Given the description of an element on the screen output the (x, y) to click on. 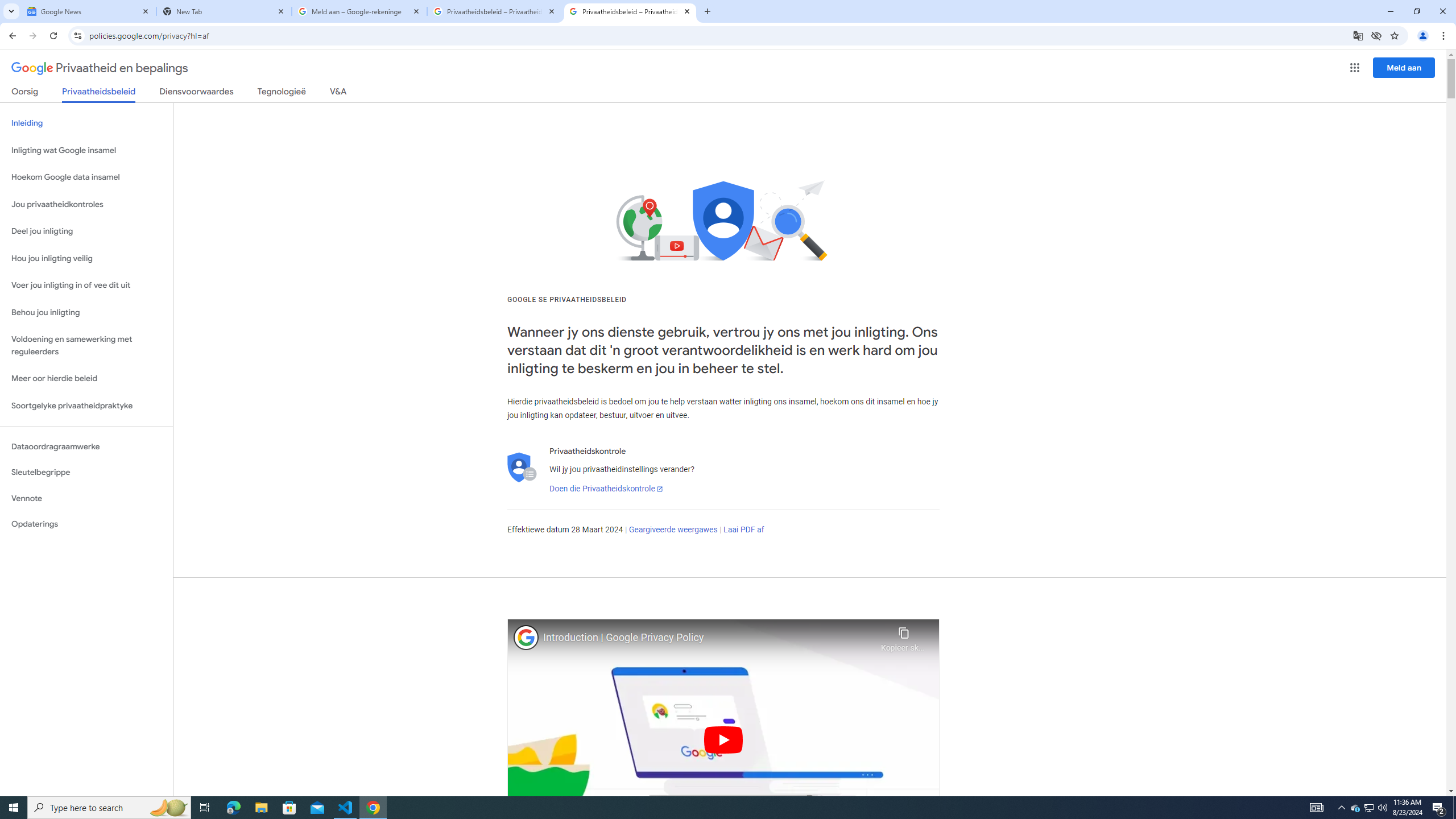
Next Paragraph (778, 149)
Stop (835, 149)
Add Text (110, 72)
Insert Citation (412, 92)
Language Chinese (Simplified, Mainland China) (188, 773)
Bibliography (485, 112)
Mark Citation... (893, 92)
Accessibility Assistant (1439, 182)
Mark Entry... (753, 92)
